Given the description of an element on the screen output the (x, y) to click on. 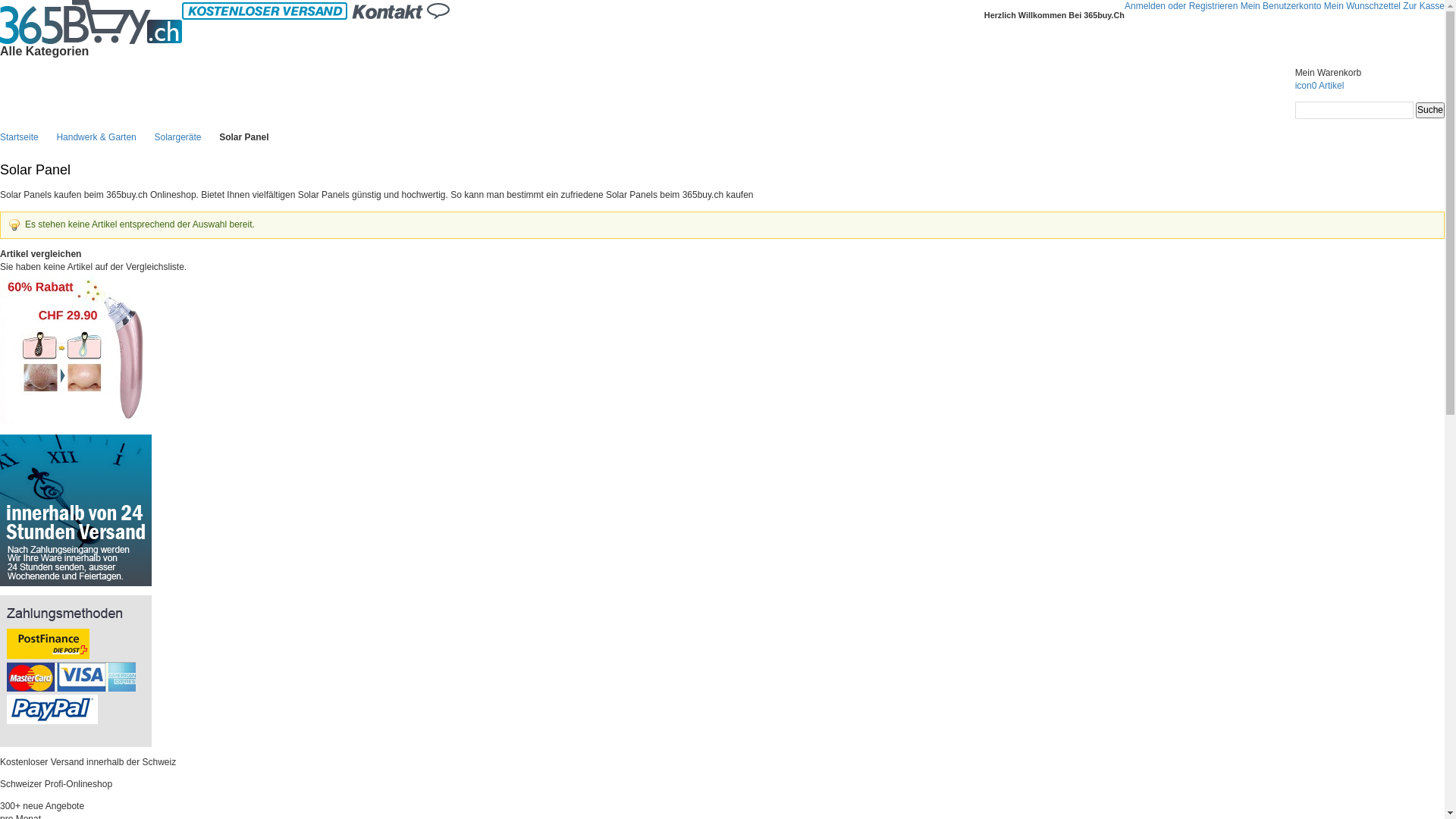
Porenreiniger Element type: hover (75, 349)
Zur Kasse Element type: text (1423, 5)
Startseite Element type: text (19, 136)
Porenreiniger Element type: hover (75, 279)
Anmelden oder Registrieren Element type: text (1180, 5)
Mein Wunschzettel Element type: text (1362, 5)
Handwerk & Garten Element type: text (95, 136)
Schweizer online Shop Element type: hover (91, 21)
Suche Element type: text (1429, 110)
Mein Benutzerkonto Element type: text (1280, 5)
icon0 Artikel Element type: text (1369, 91)
